Given the description of an element on the screen output the (x, y) to click on. 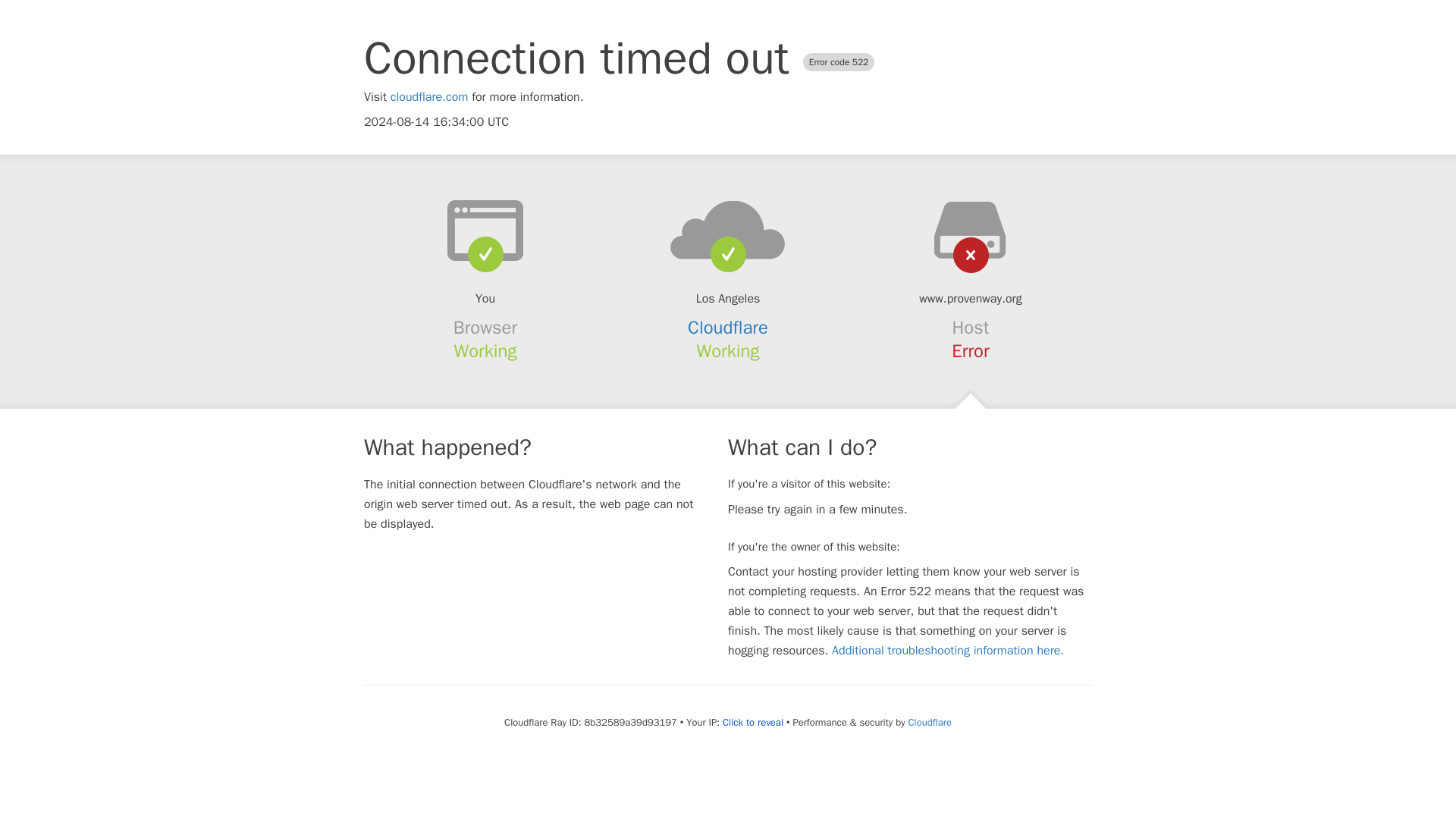
cloudflare.com (429, 96)
Click to reveal (752, 722)
Cloudflare (727, 327)
Additional troubleshooting information here. (947, 650)
Cloudflare (930, 721)
